Given the description of an element on the screen output the (x, y) to click on. 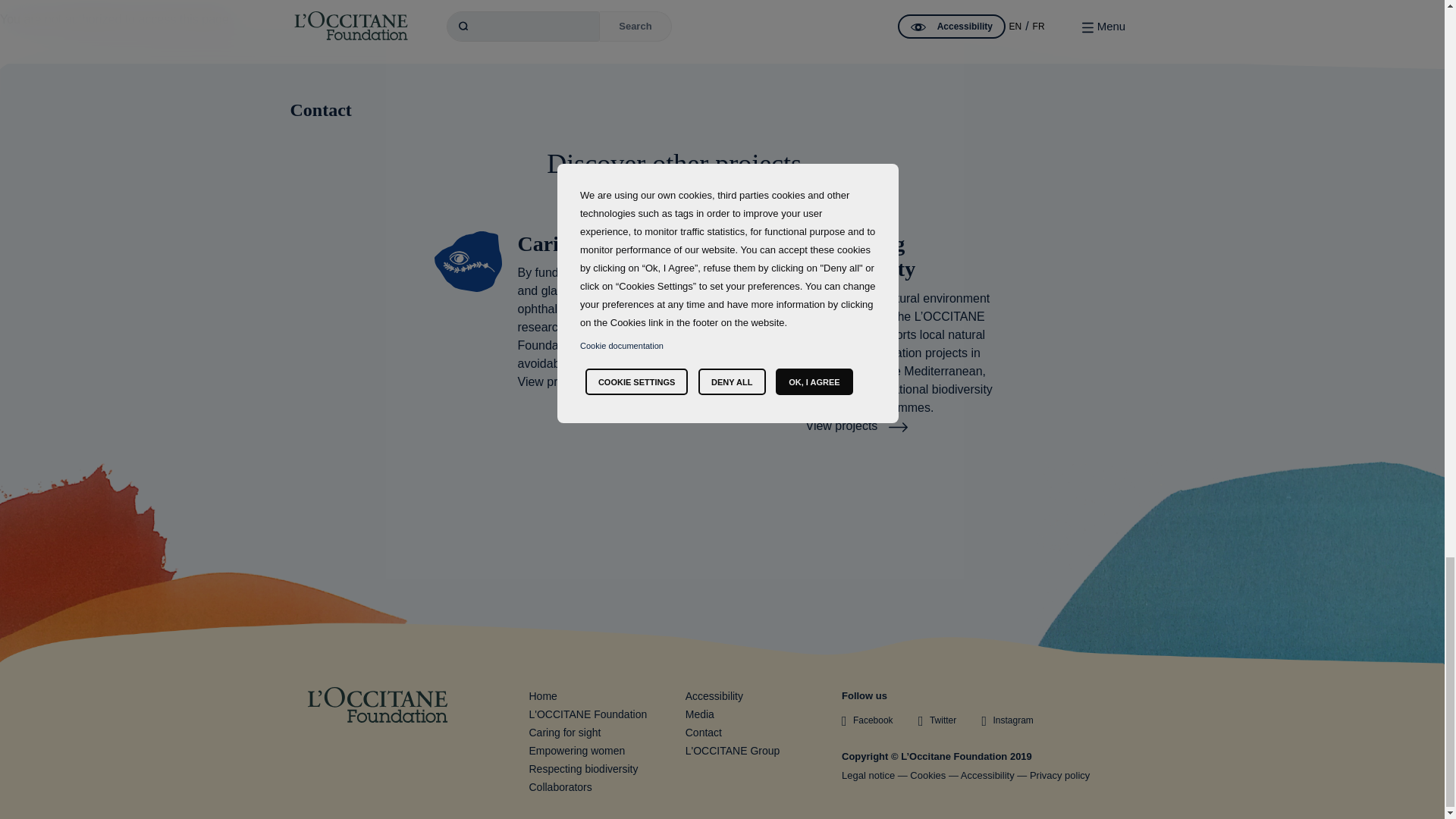
Activity reports (699, 714)
Respecting Biodiversity (584, 768)
View Respecting Biodiversity projects (856, 425)
Accessibility (713, 695)
Collaborators (560, 787)
Foundation history (588, 714)
Home (543, 695)
Caring for sight (565, 732)
View projects (568, 381)
Twitter - L'OCCITANE Foundation (937, 719)
Empowering women (577, 750)
Accessibility (987, 775)
Twitter (937, 719)
L'OCCITANE Group (732, 750)
Media (699, 714)
